Given the description of an element on the screen output the (x, y) to click on. 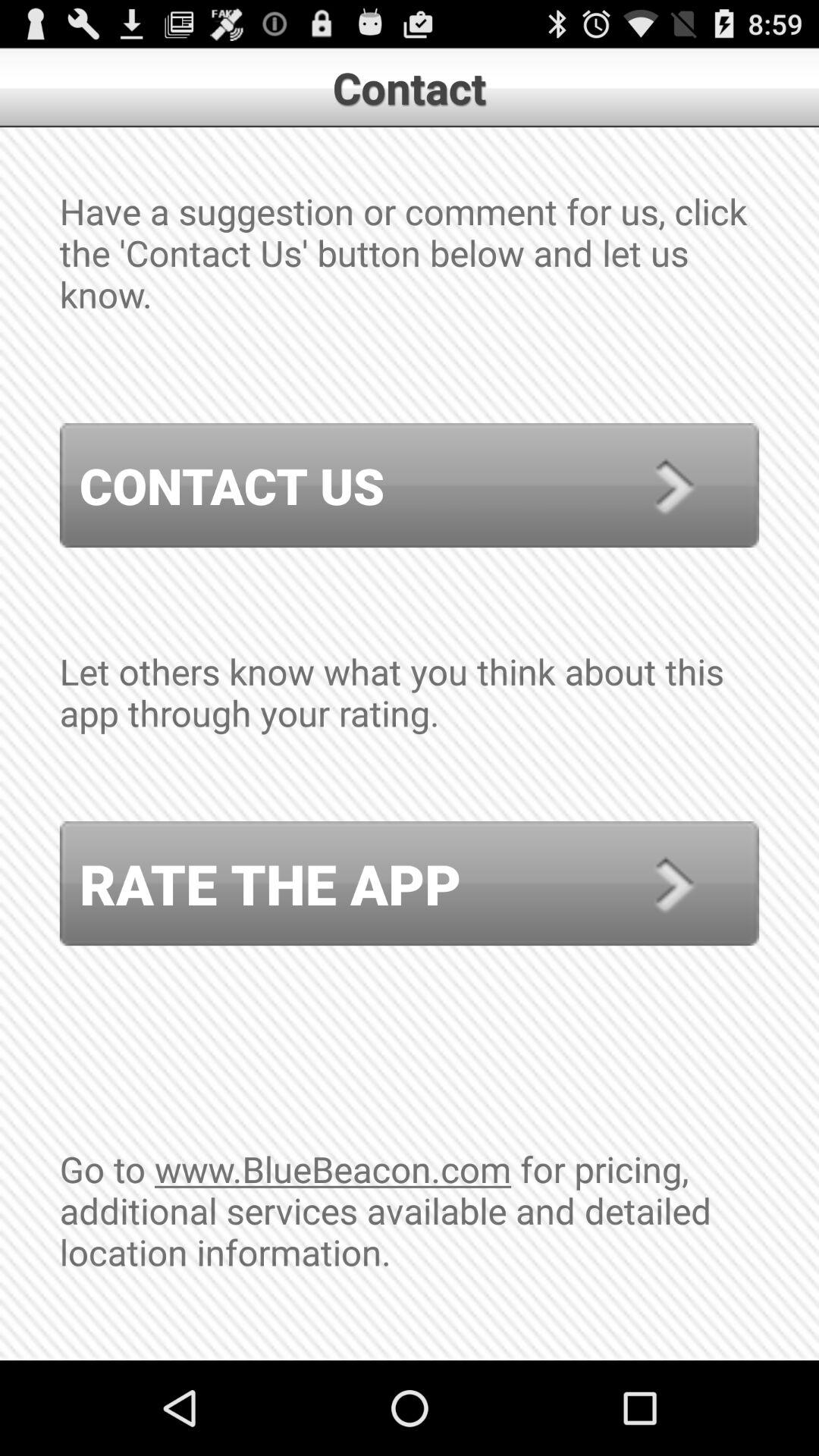
press go to www icon (409, 1252)
